Given the description of an element on the screen output the (x, y) to click on. 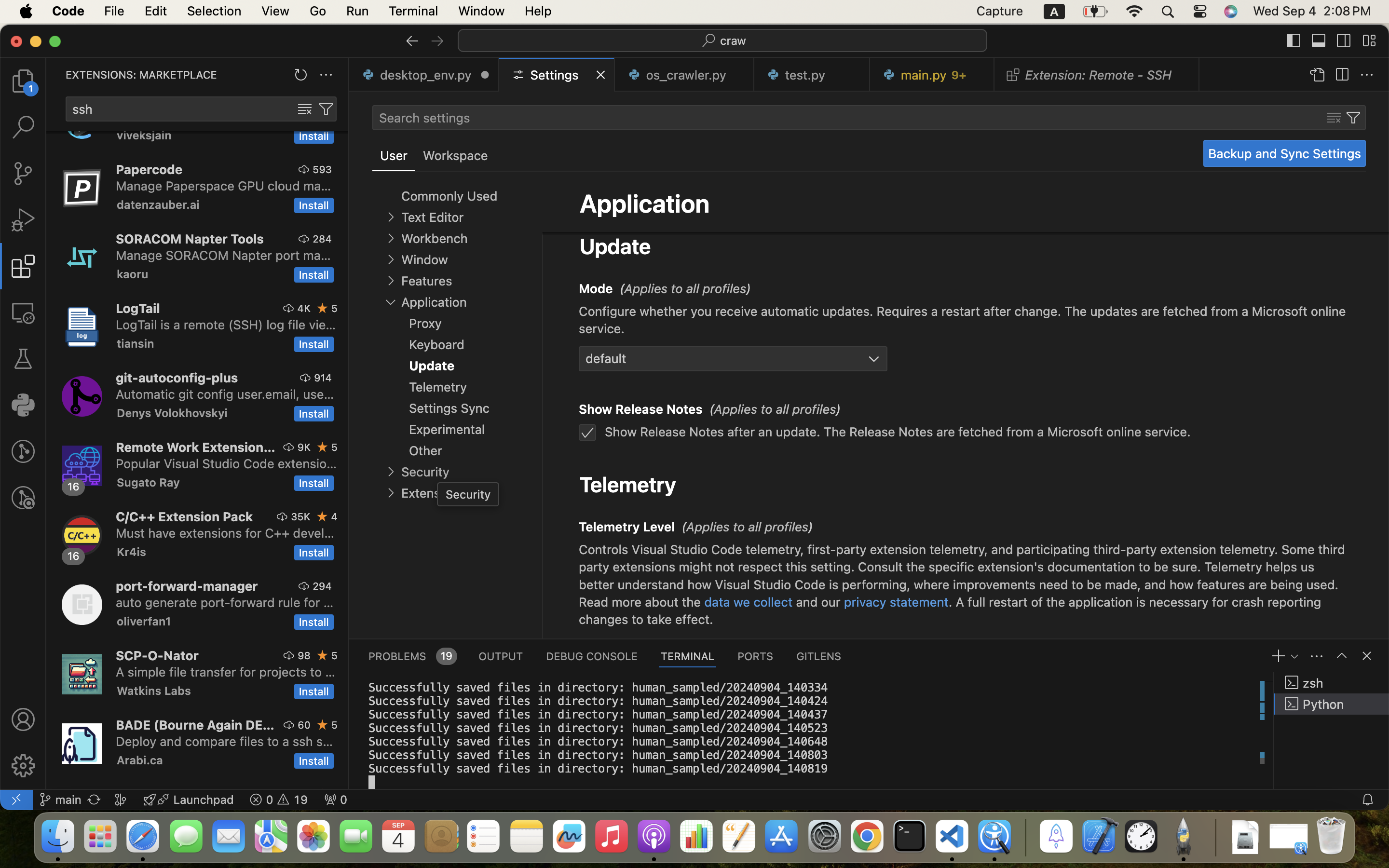
0 OUTPUT Element type: AXRadioButton (500, 655)
Watkins Labs Element type: AXStaticText (153, 690)
Proxy Element type: AXStaticText (424, 323)
0 Element type: AXRadioButton (454, 155)
Security Element type: AXStaticText (425, 471)
